Given the description of an element on the screen output the (x, y) to click on. 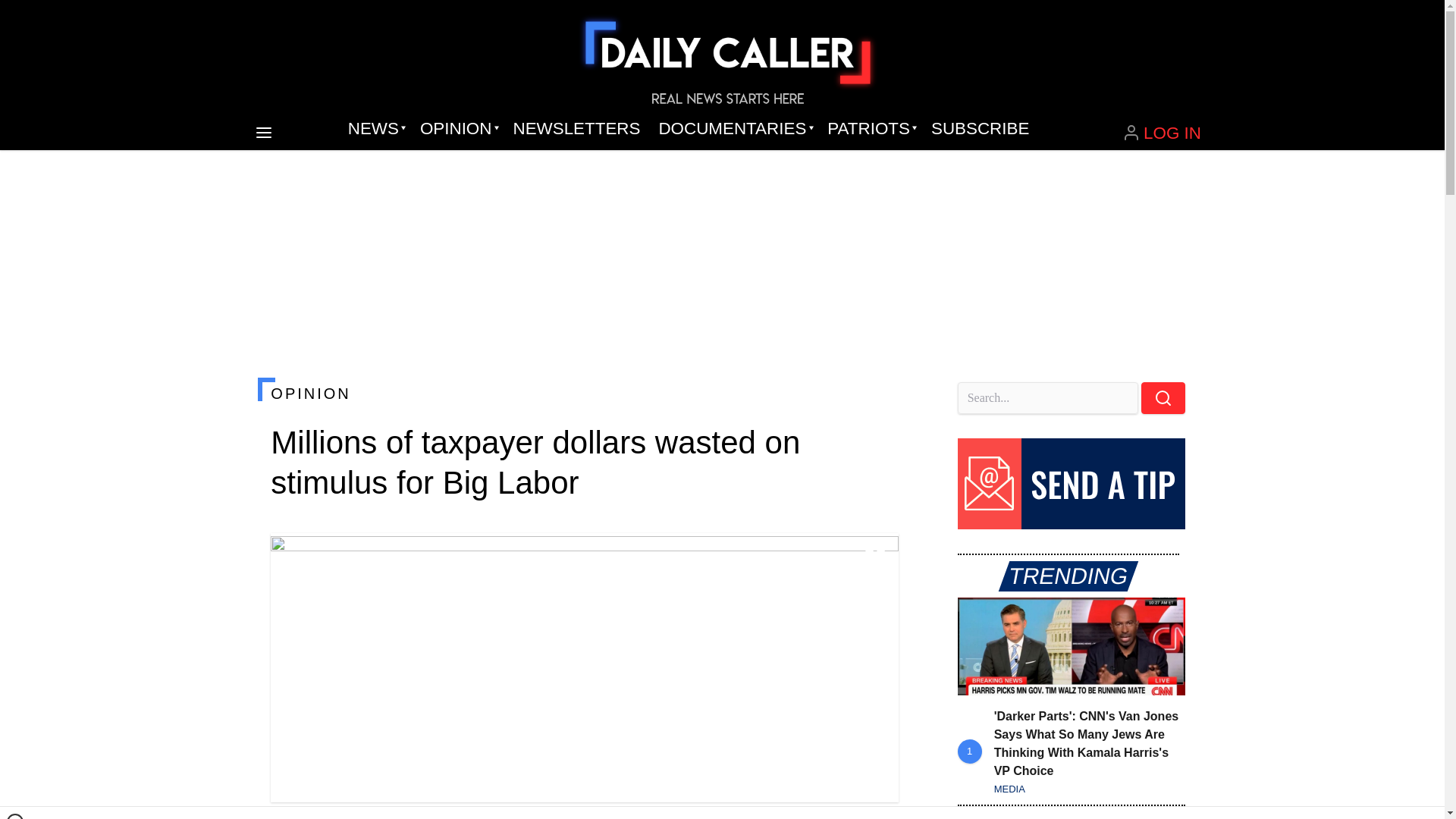
NEWS (374, 128)
DOCUMENTARIES (733, 128)
OPINION (584, 393)
Close window (14, 816)
Toggle fullscreen (874, 556)
OPINION (456, 128)
PATRIOTS (869, 128)
NEWSLETTERS (576, 128)
SUBSCRIBE (979, 128)
